Given the description of an element on the screen output the (x, y) to click on. 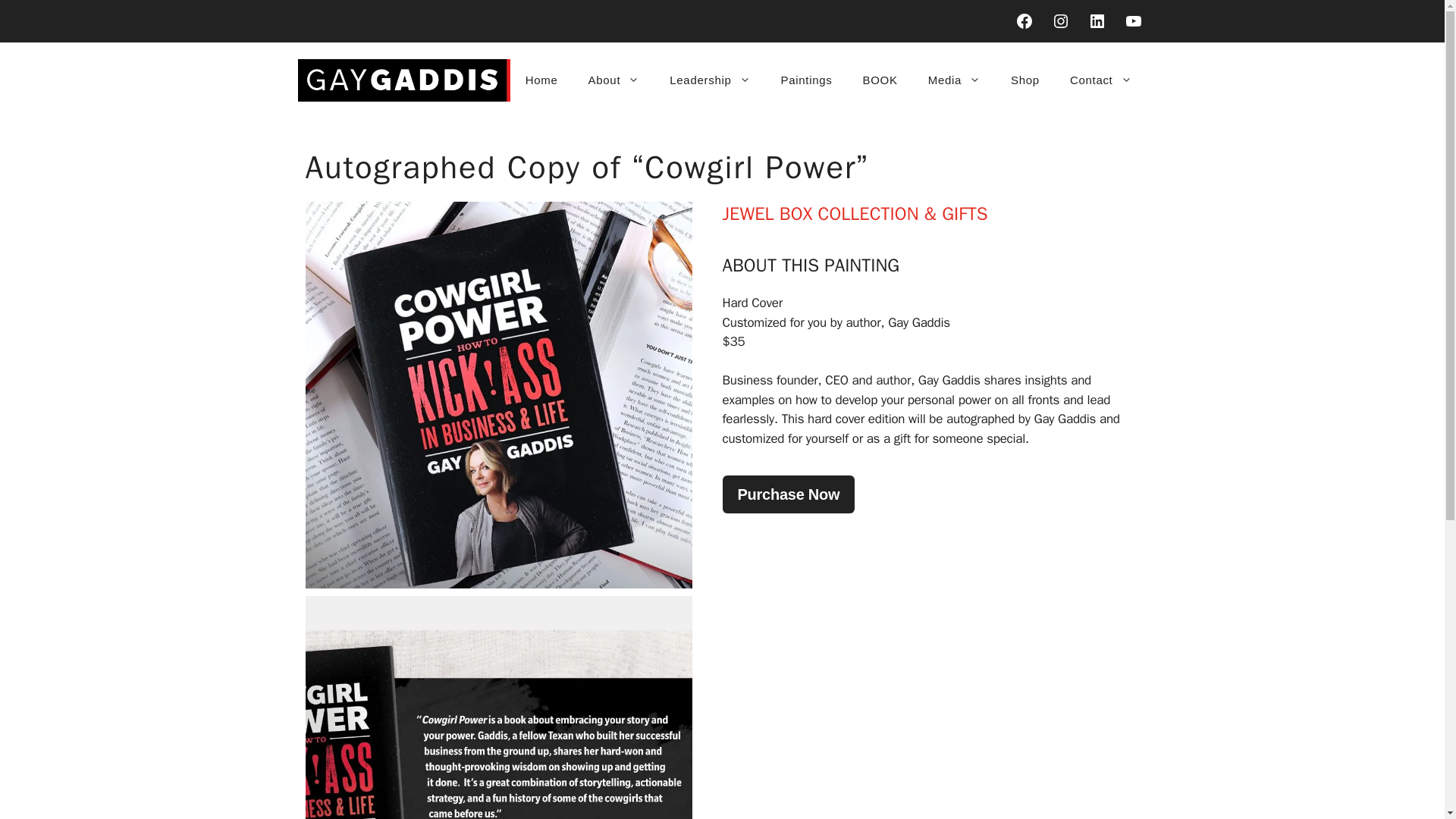
Autographed Copy of "Cowgirl Power" 3 (497, 707)
About (614, 80)
Paintings (806, 80)
Shop (1024, 80)
Instagram (1060, 21)
Contact (1100, 80)
Facebook (1023, 21)
Leadership (709, 80)
BOOK (879, 80)
Home (542, 80)
YouTube (1133, 21)
LinkedIn (1096, 21)
Media (953, 80)
